Given the description of an element on the screen output the (x, y) to click on. 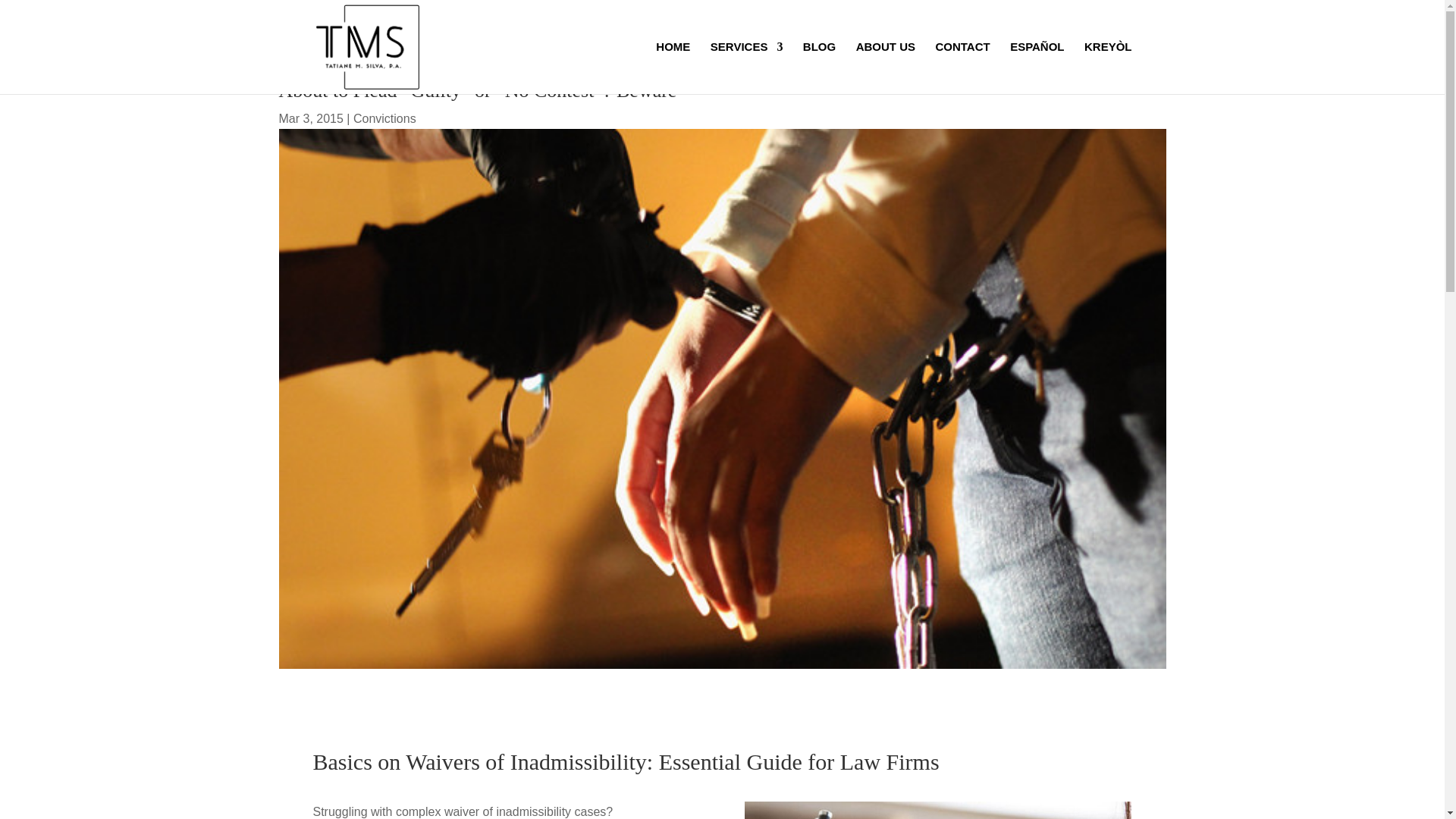
CONTACT (962, 67)
SERVICES (746, 67)
ABOUT US (885, 67)
Eligibility Criteria for Adjustment of Status (937, 810)
